Given the description of an element on the screen output the (x, y) to click on. 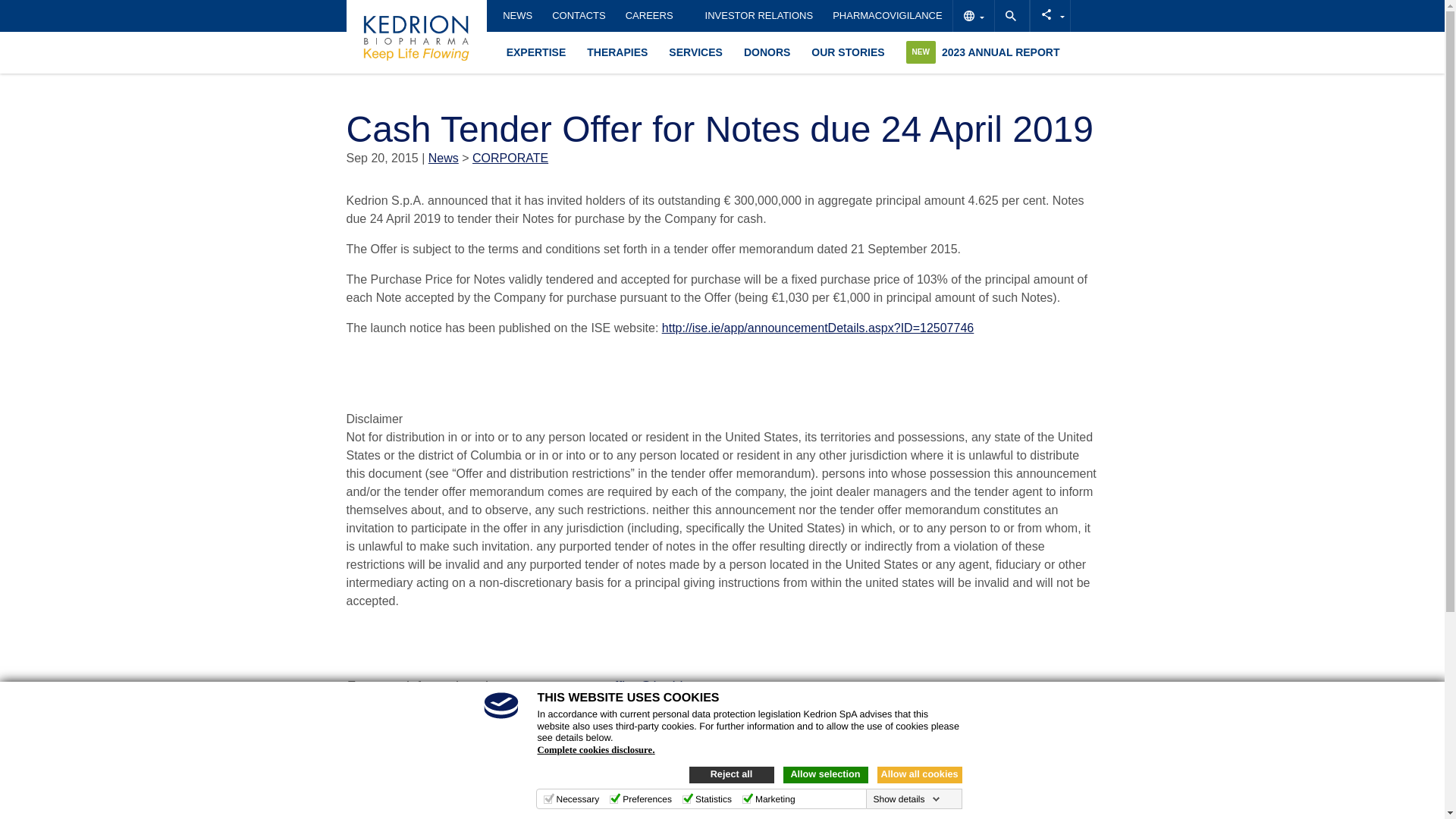
Complete cookies disclosure (594, 749)
Allow selection (825, 774)
Allow all cookies (918, 774)
Show details (905, 799)
Reject all (730, 774)
